Given the description of an element on the screen output the (x, y) to click on. 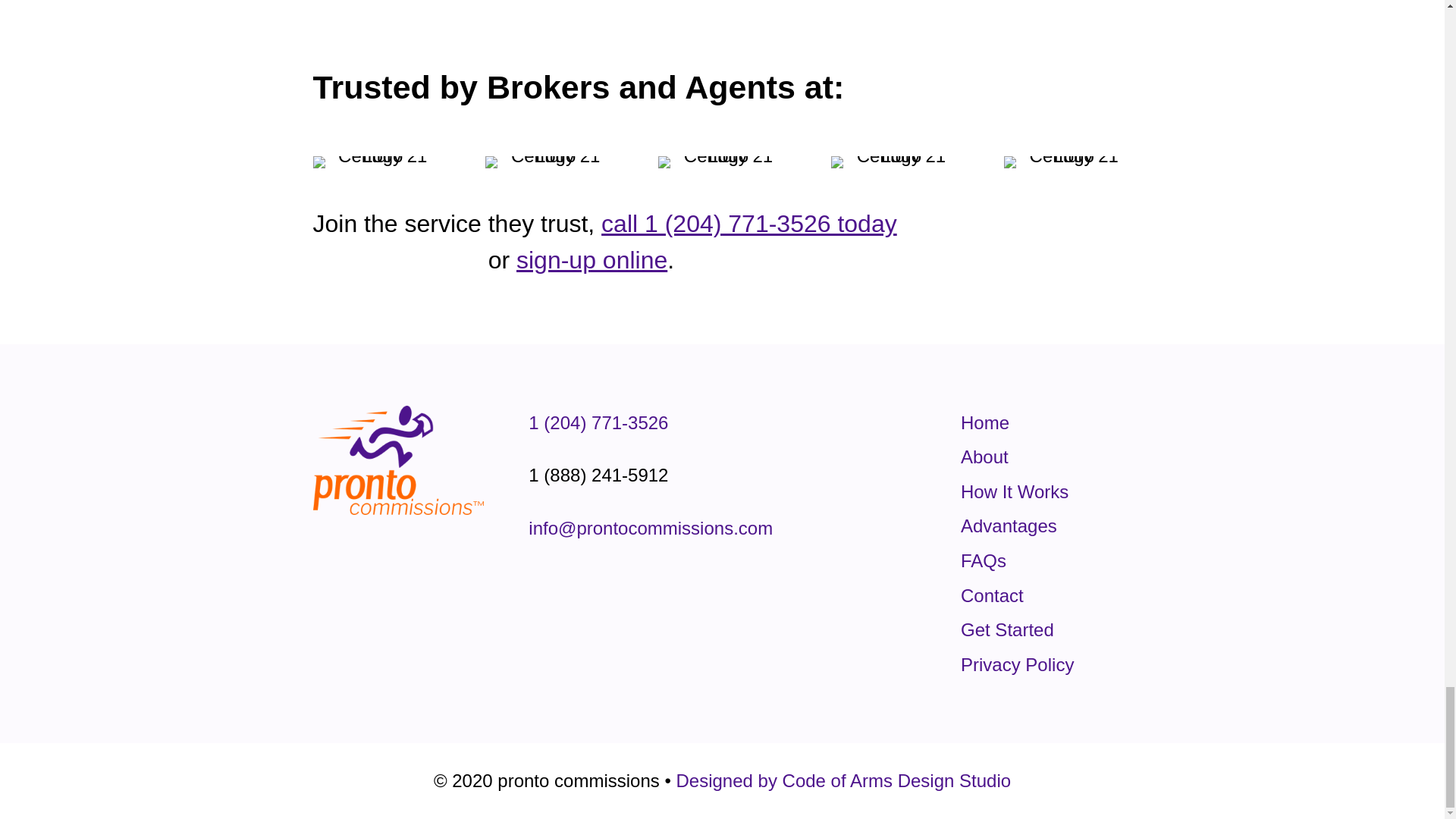
coldwell-banker (548, 162)
realty-executives (1067, 162)
Designed by Code of Arms Design Studio (842, 780)
About (984, 456)
How It Works (1014, 491)
Privacy Policy (1017, 664)
Advantages (1008, 525)
Contact (991, 595)
royal-lepage (722, 162)
century-21 (377, 162)
